Given the description of an element on the screen output the (x, y) to click on. 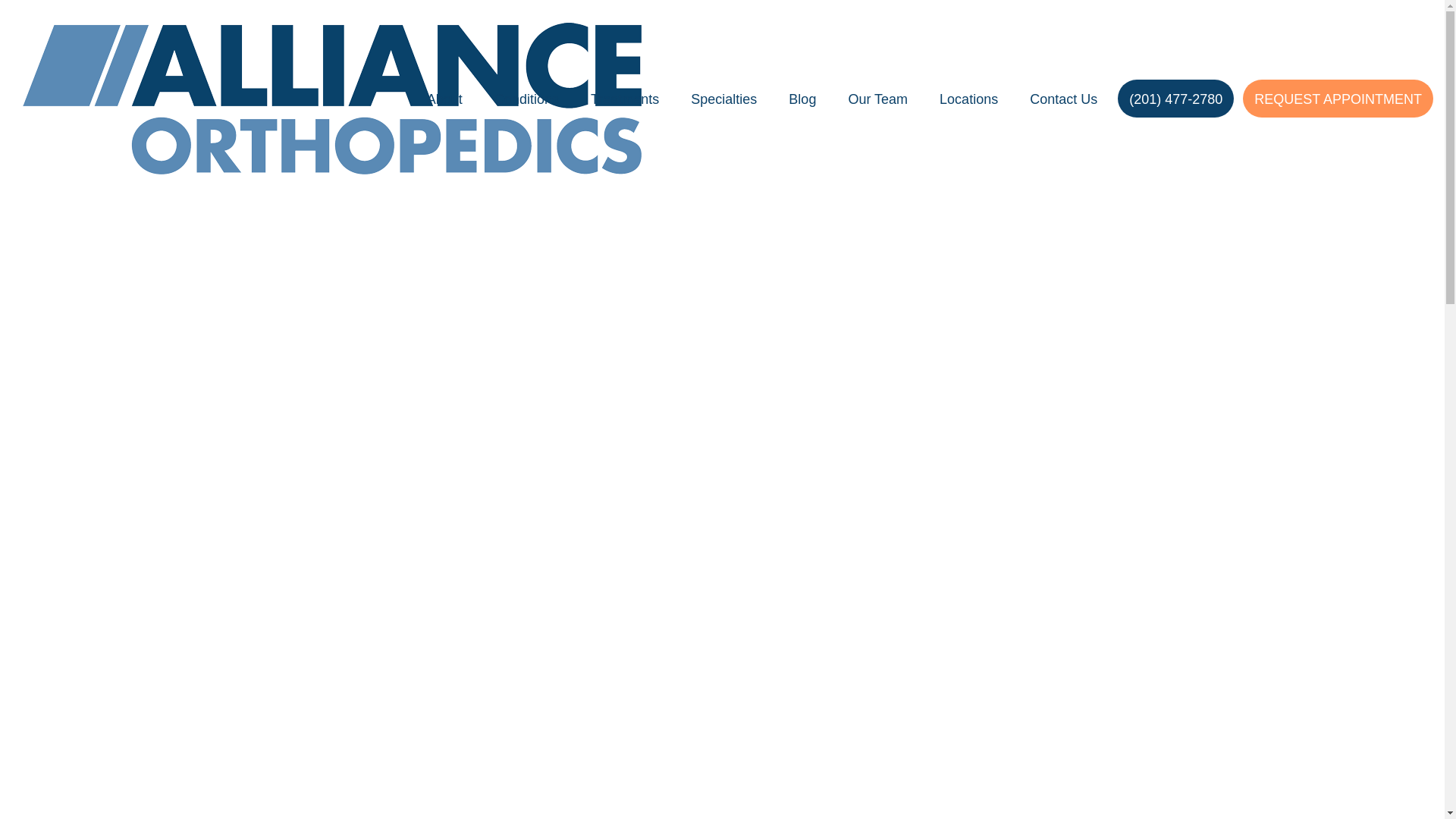
Conditions (526, 98)
REQUEST APPOINTMENT (1337, 98)
About (444, 98)
